Given the description of an element on the screen output the (x, y) to click on. 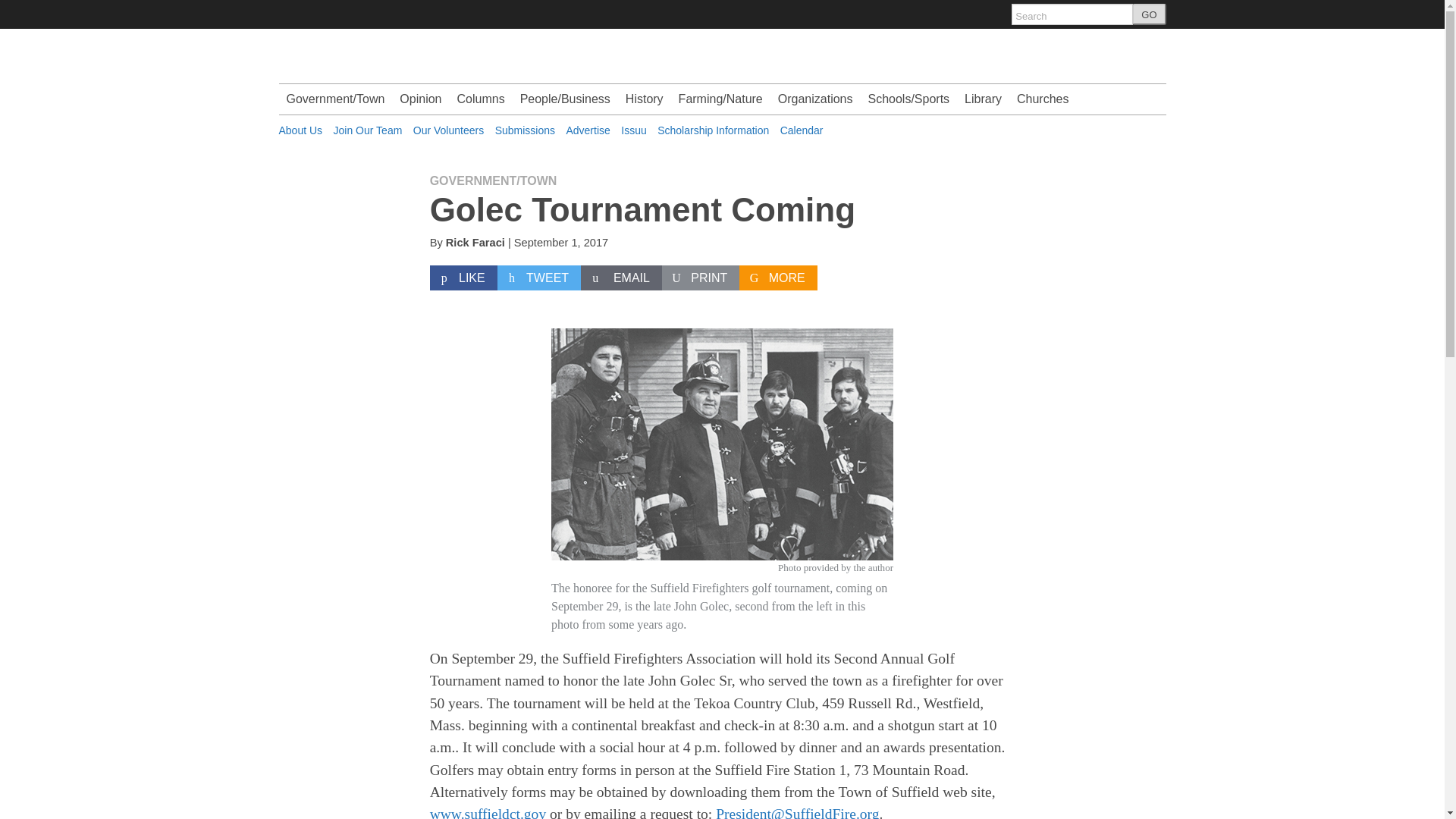
Rick Faraci (475, 242)
Join Our Team (368, 130)
GO (1149, 14)
Issuu (633, 130)
LIKE (463, 278)
Library (982, 99)
Read All Posts By Rick Faraci (475, 242)
History (644, 99)
Churches (1042, 99)
Advertise (588, 130)
